Given the description of an element on the screen output the (x, y) to click on. 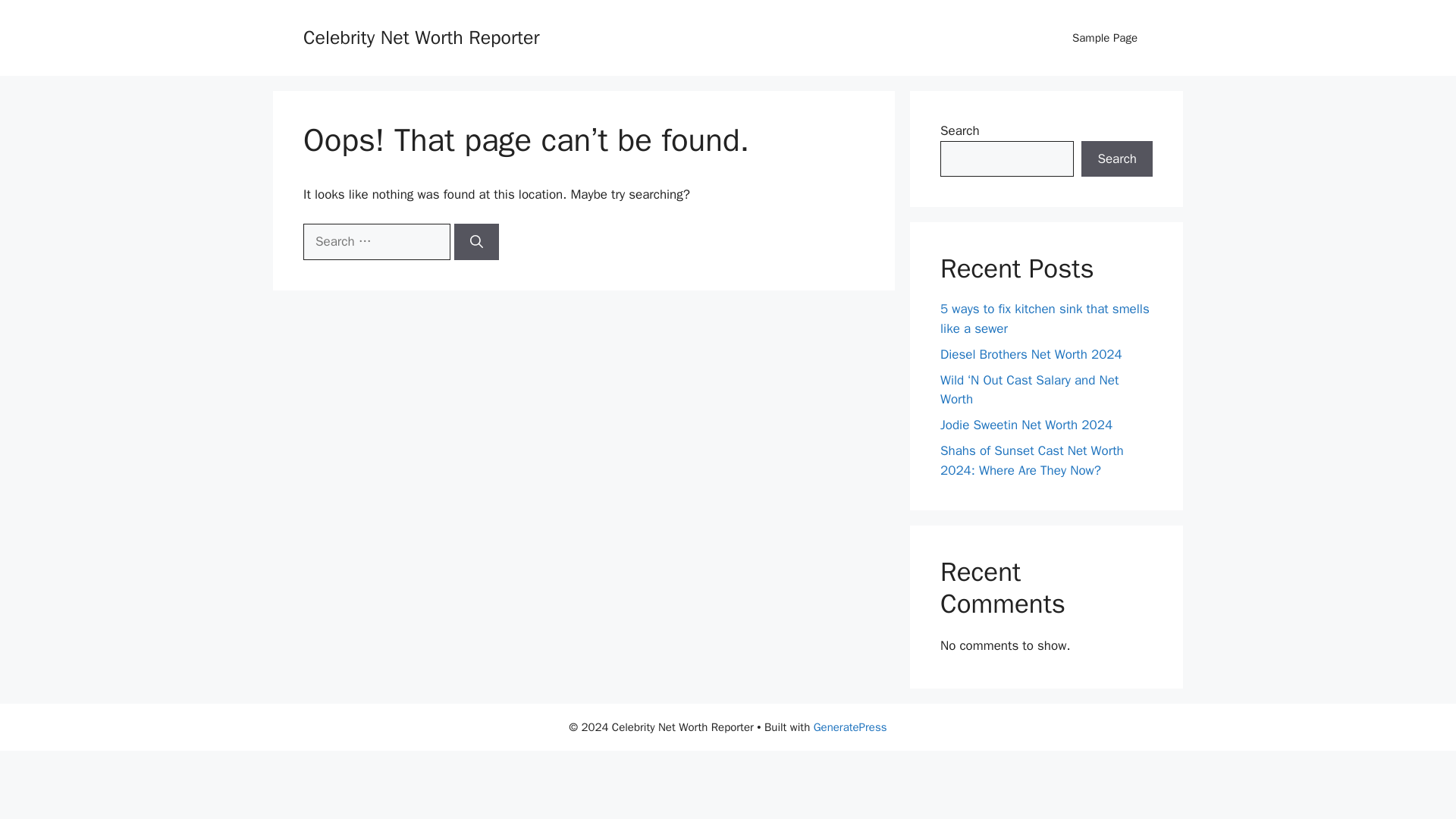
Search (1117, 158)
Shahs of Sunset Cast Net Worth 2024: Where Are They Now? (1032, 460)
Search for: (375, 241)
Jodie Sweetin Net Worth 2024 (1026, 424)
Sample Page (1105, 37)
Celebrity Net Worth Reporter (421, 37)
5 ways to fix kitchen sink that smells like a sewer (1045, 318)
GeneratePress (849, 726)
Diesel Brothers Net Worth 2024 (1031, 353)
